Given the description of an element on the screen output the (x, y) to click on. 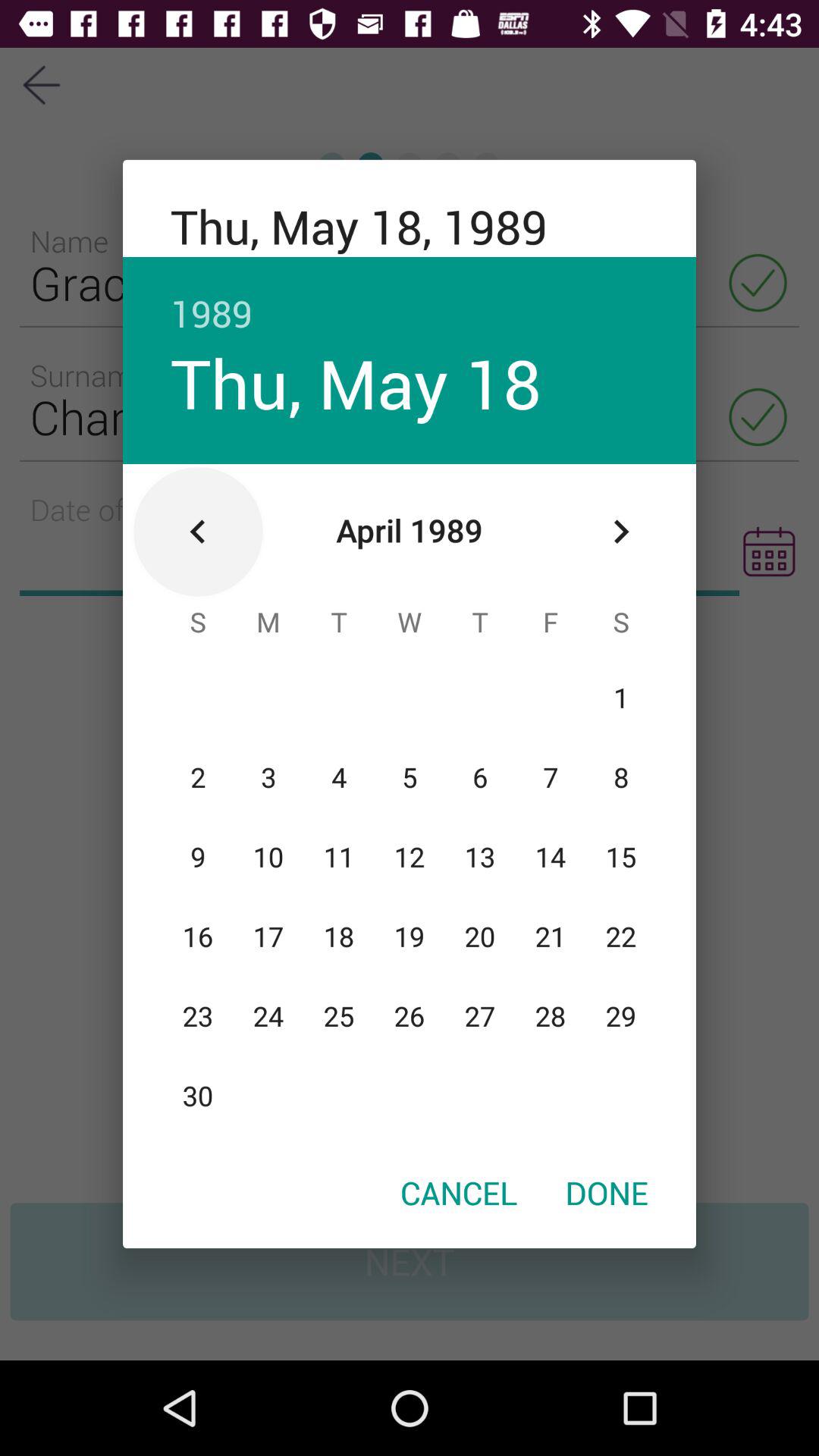
open the item next to done icon (458, 1192)
